Given the description of an element on the screen output the (x, y) to click on. 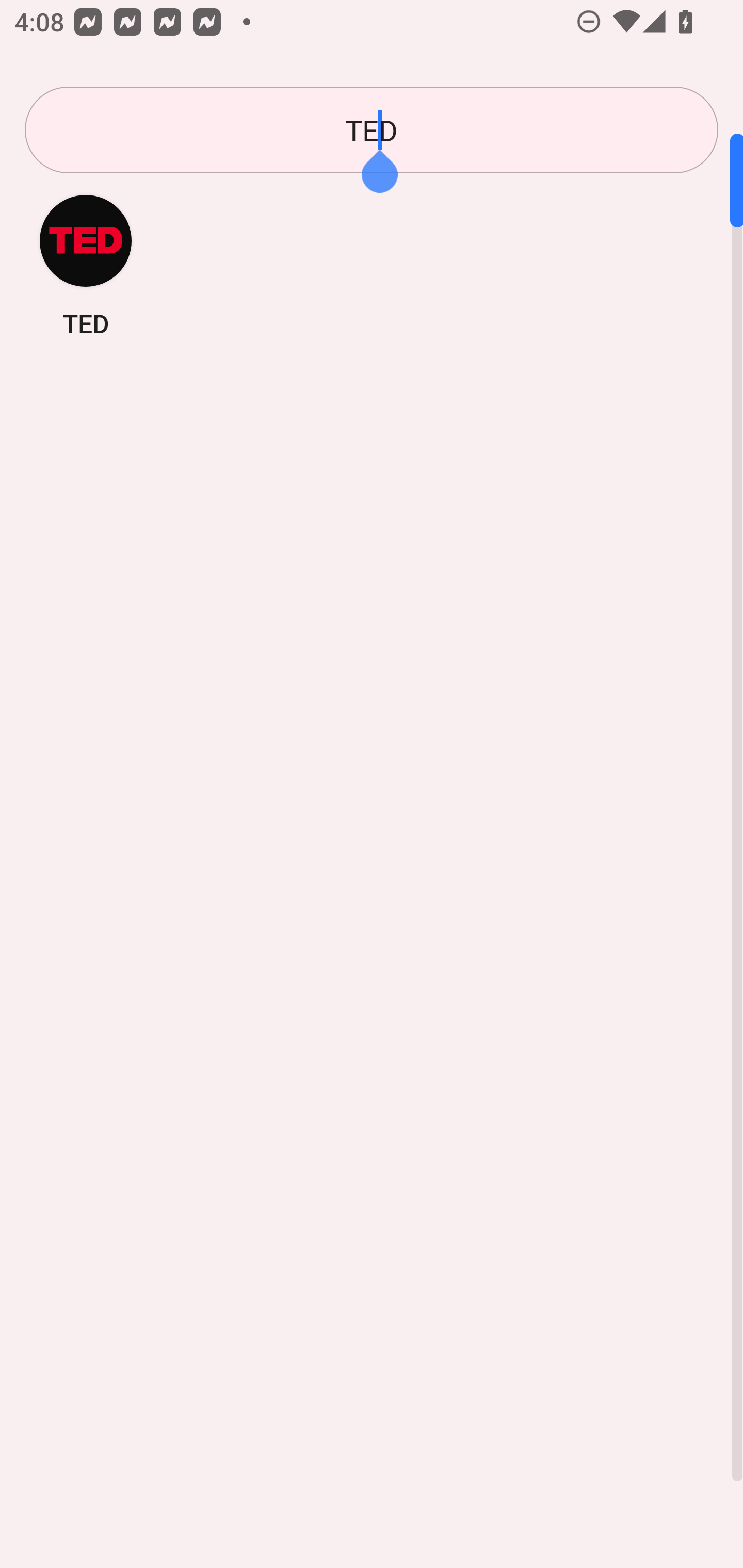
TED (371, 130)
TED (85, 264)
